Given the description of an element on the screen output the (x, y) to click on. 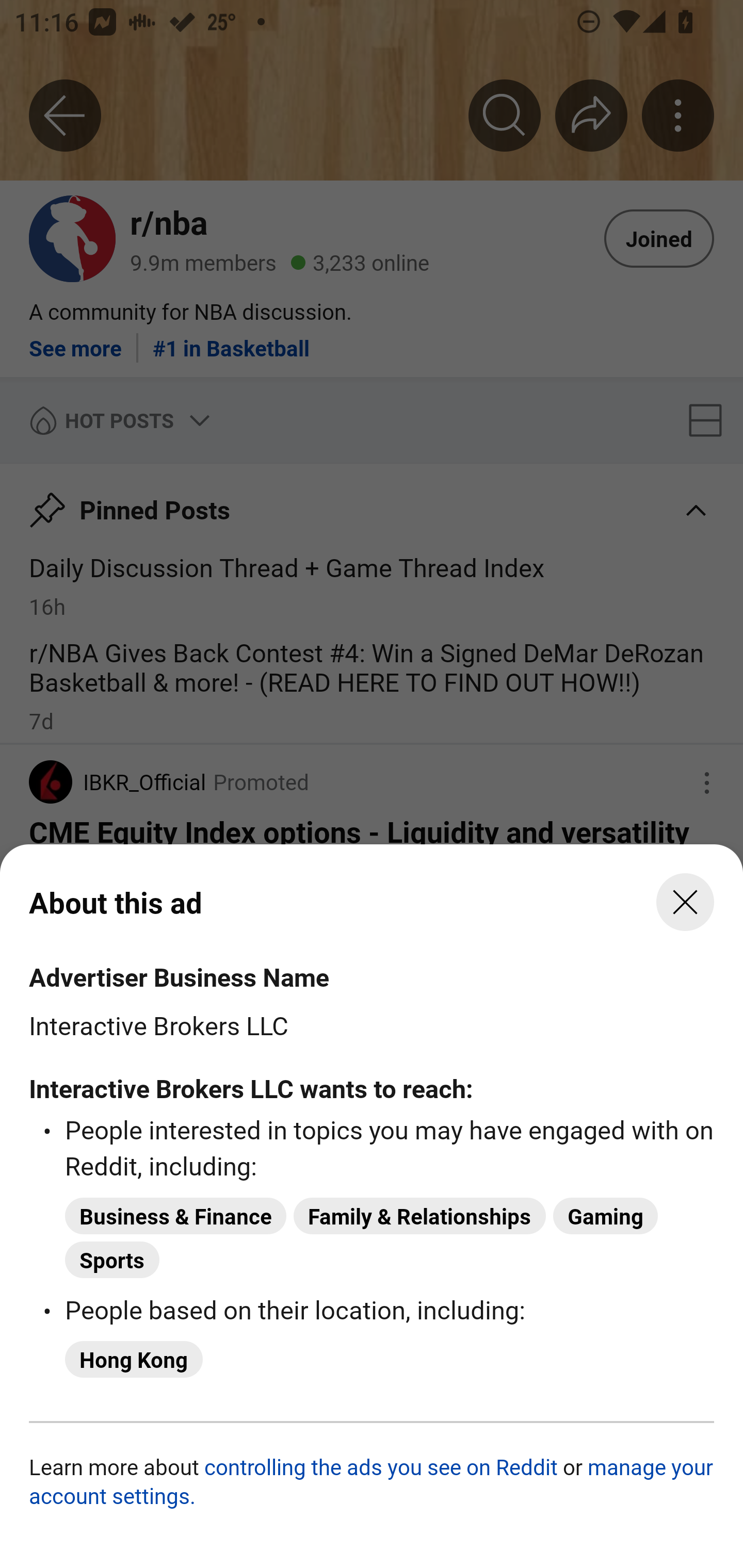
Close sheet (684, 902)
Image (371, 1202)
